Given the description of an element on the screen output the (x, y) to click on. 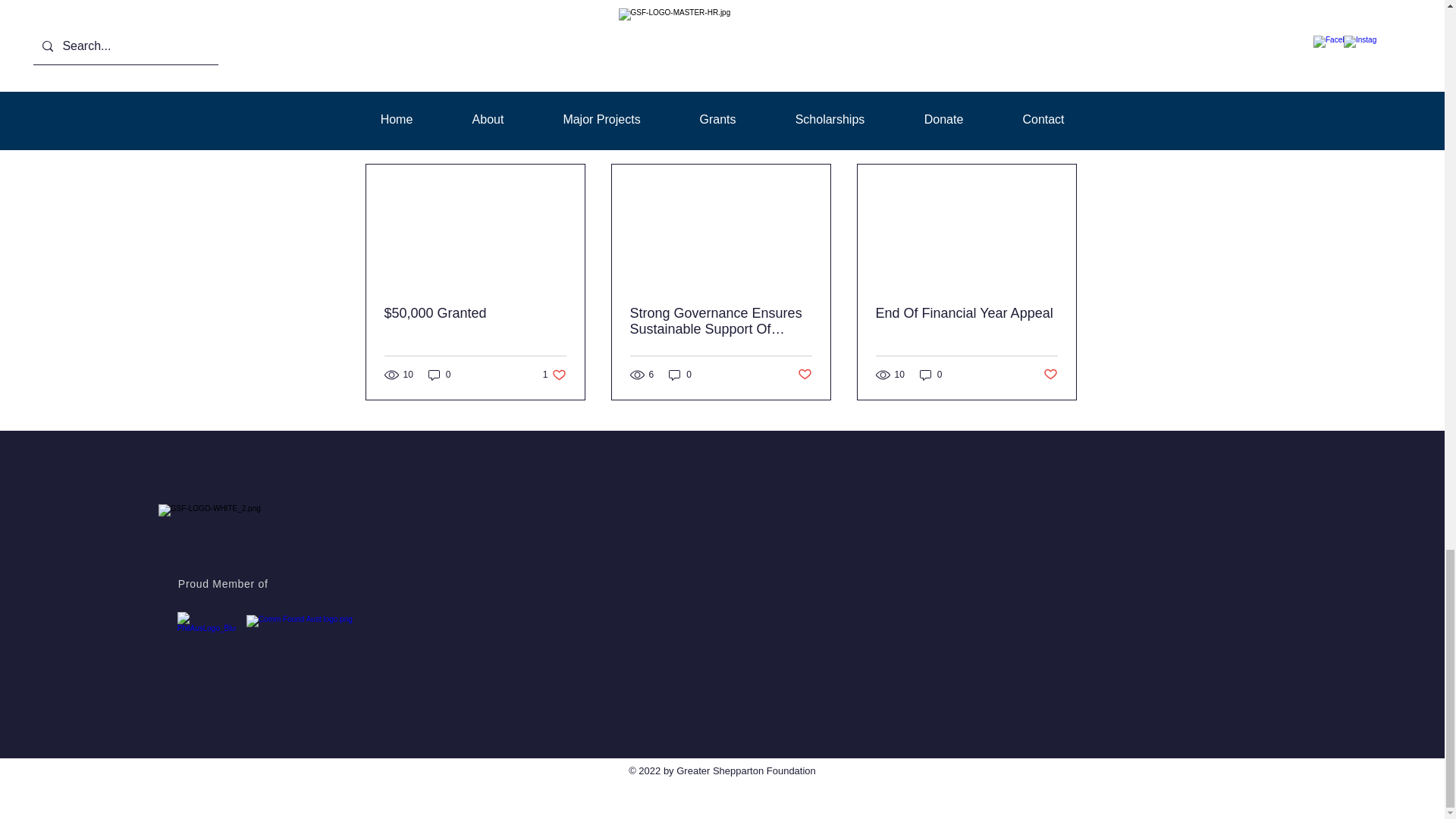
Post not marked as liked (994, 54)
0 (439, 374)
See All (1061, 137)
Strong Governance Ensures Sustainable Support Of Community (719, 321)
0 (679, 374)
Post not marked as liked (554, 374)
